Given the description of an element on the screen output the (x, y) to click on. 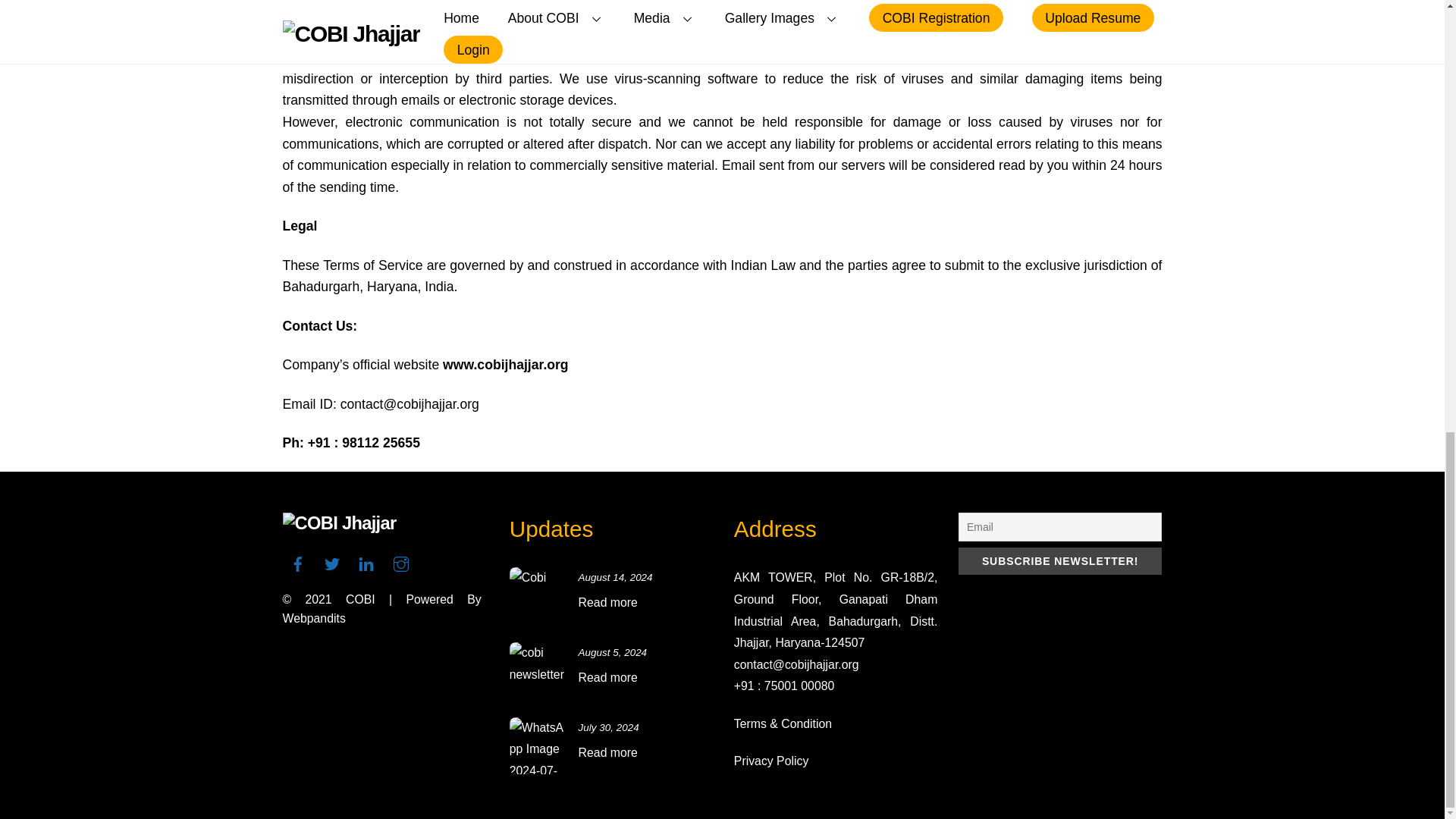
Read more (607, 676)
Subscribe Newsletter! (1059, 560)
newsletter (537, 670)
COBI Jhajjar (339, 522)
Webpandits (313, 617)
COBI (360, 599)
Read more (607, 602)
